Given the description of an element on the screen output the (x, y) to click on. 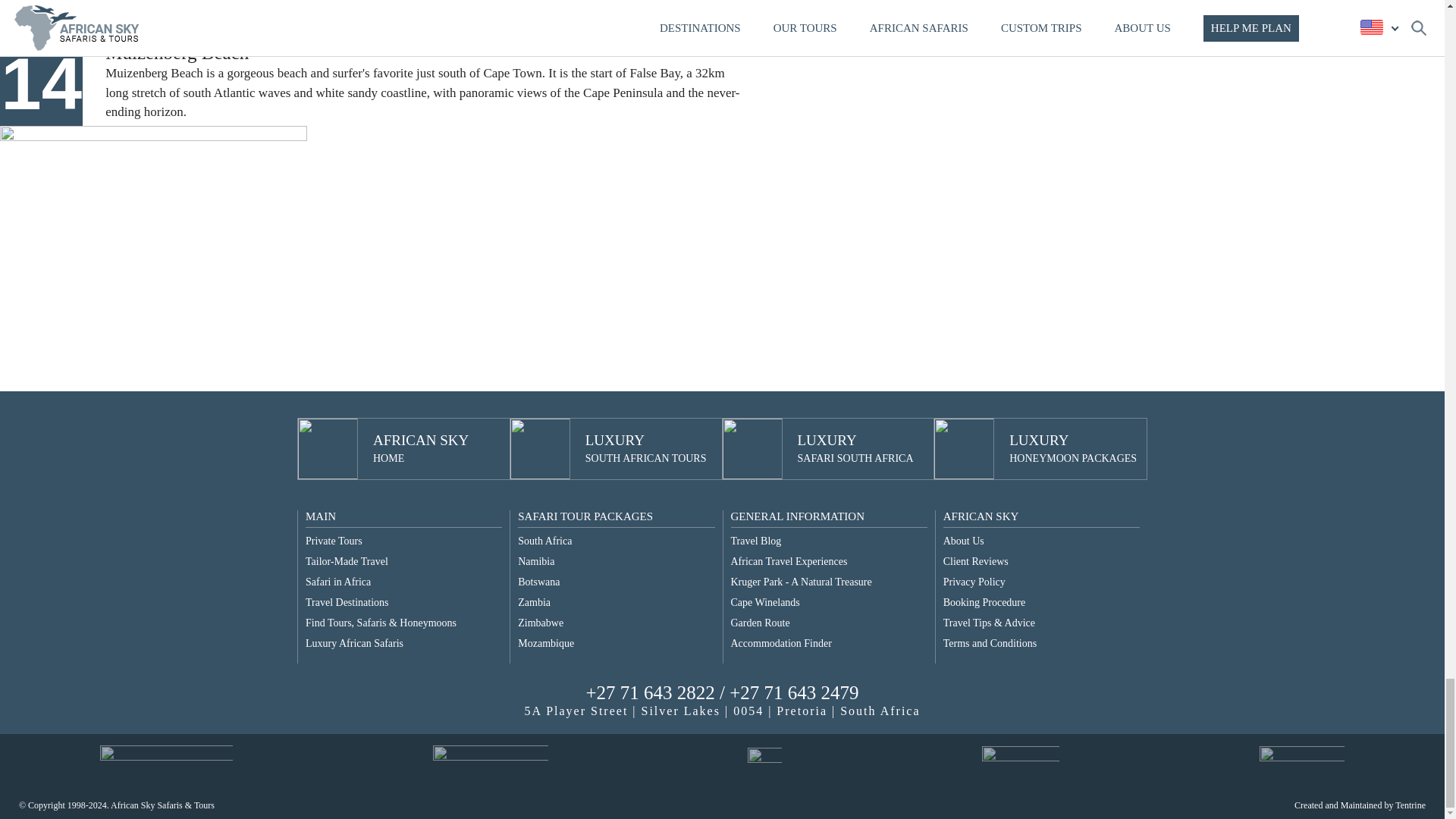
Luxury African Safaris (420, 449)
Namibia (354, 643)
Safari in Africa (536, 561)
Travel Destinations (338, 582)
Tailor-Made Travel (346, 602)
Private Tours (346, 561)
South Africa (855, 449)
Zimbabwe (333, 541)
Botswana (545, 541)
Zambia (540, 622)
Travel Blog (538, 582)
